Given the description of an element on the screen output the (x, y) to click on. 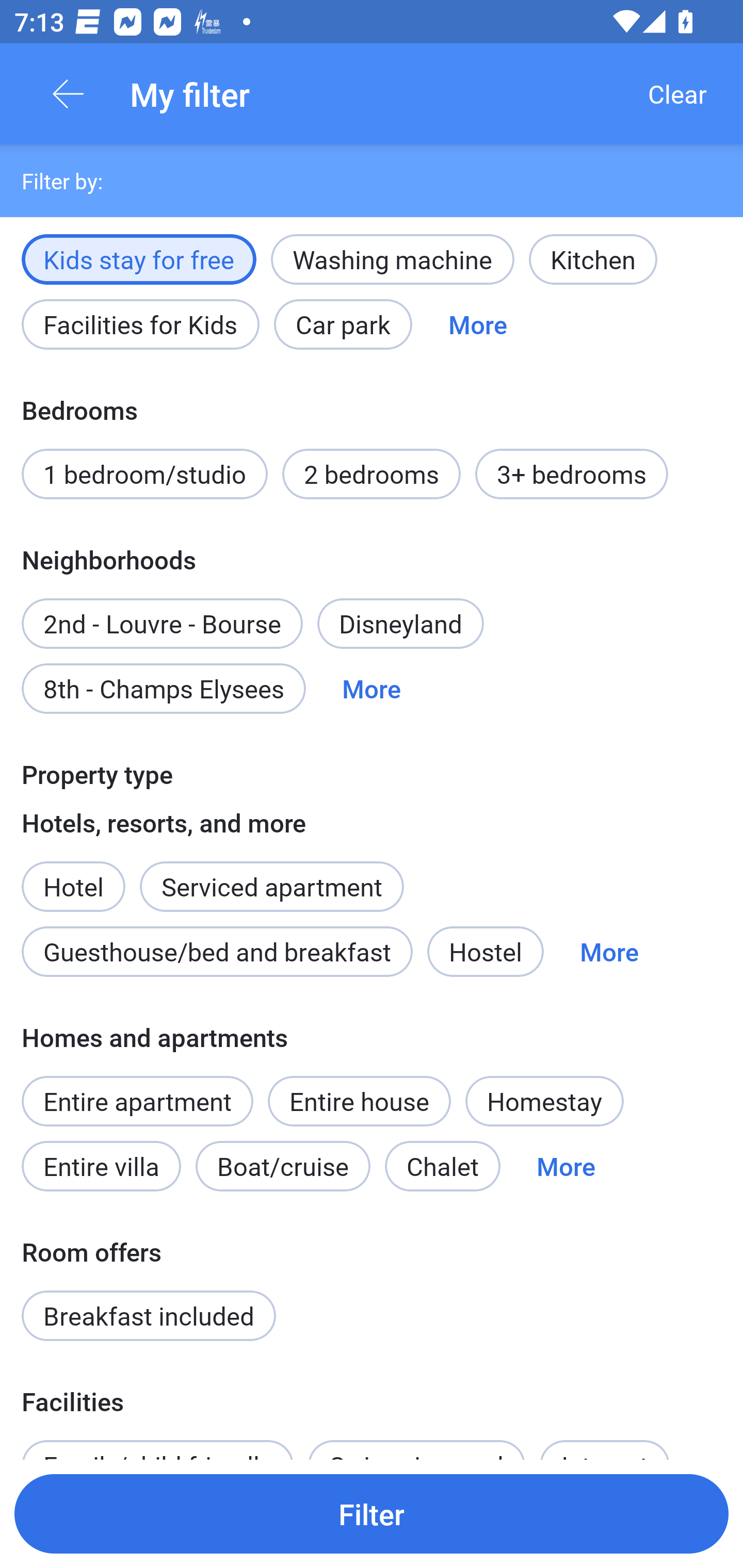
Clear (676, 93)
Washing machine (392, 259)
Kitchen (593, 259)
Facilities for Kids (140, 324)
Car park (343, 324)
More (477, 324)
1 bedroom/studio (144, 474)
2 bedrooms (371, 474)
3+ bedrooms (571, 474)
2nd - Louvre - Bourse (162, 613)
Disneyland (400, 623)
8th - Champs Elysees (163, 689)
More (371, 689)
Hotel (73, 875)
Serviced apartment (271, 875)
Guesthouse/bed and breakfast (217, 951)
Hostel (485, 951)
More (608, 951)
Entire apartment (137, 1101)
Entire house (359, 1101)
Homestay (544, 1101)
Entire villa (101, 1165)
Boat/cruise (282, 1165)
Chalet (442, 1165)
More (565, 1165)
Breakfast included (148, 1316)
Filter (371, 1513)
